Given the description of an element on the screen output the (x, y) to click on. 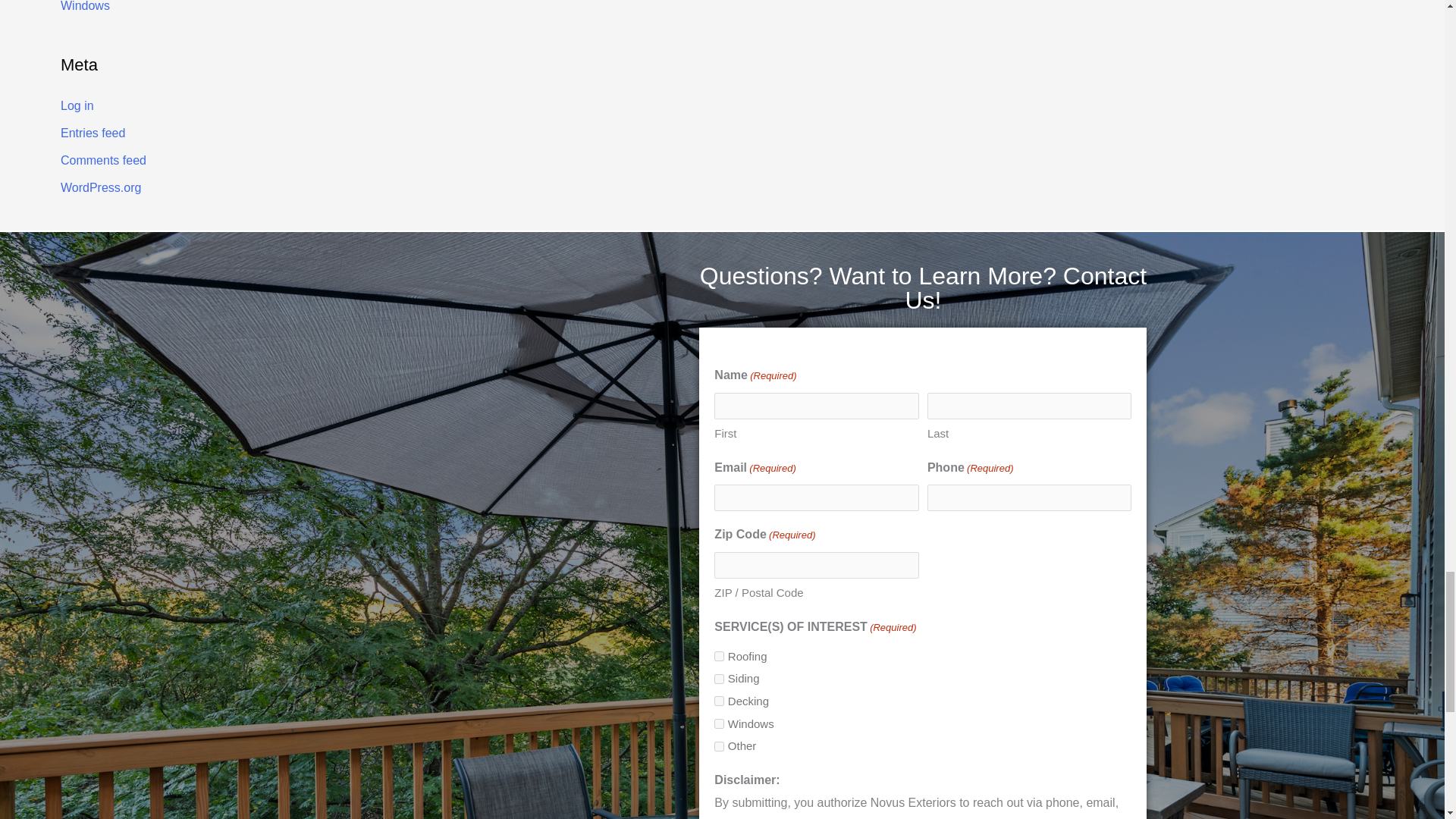
Windows (718, 723)
Decking (718, 700)
Other (718, 746)
Roofing (718, 655)
Siding (718, 678)
